Given the description of an element on the screen output the (x, y) to click on. 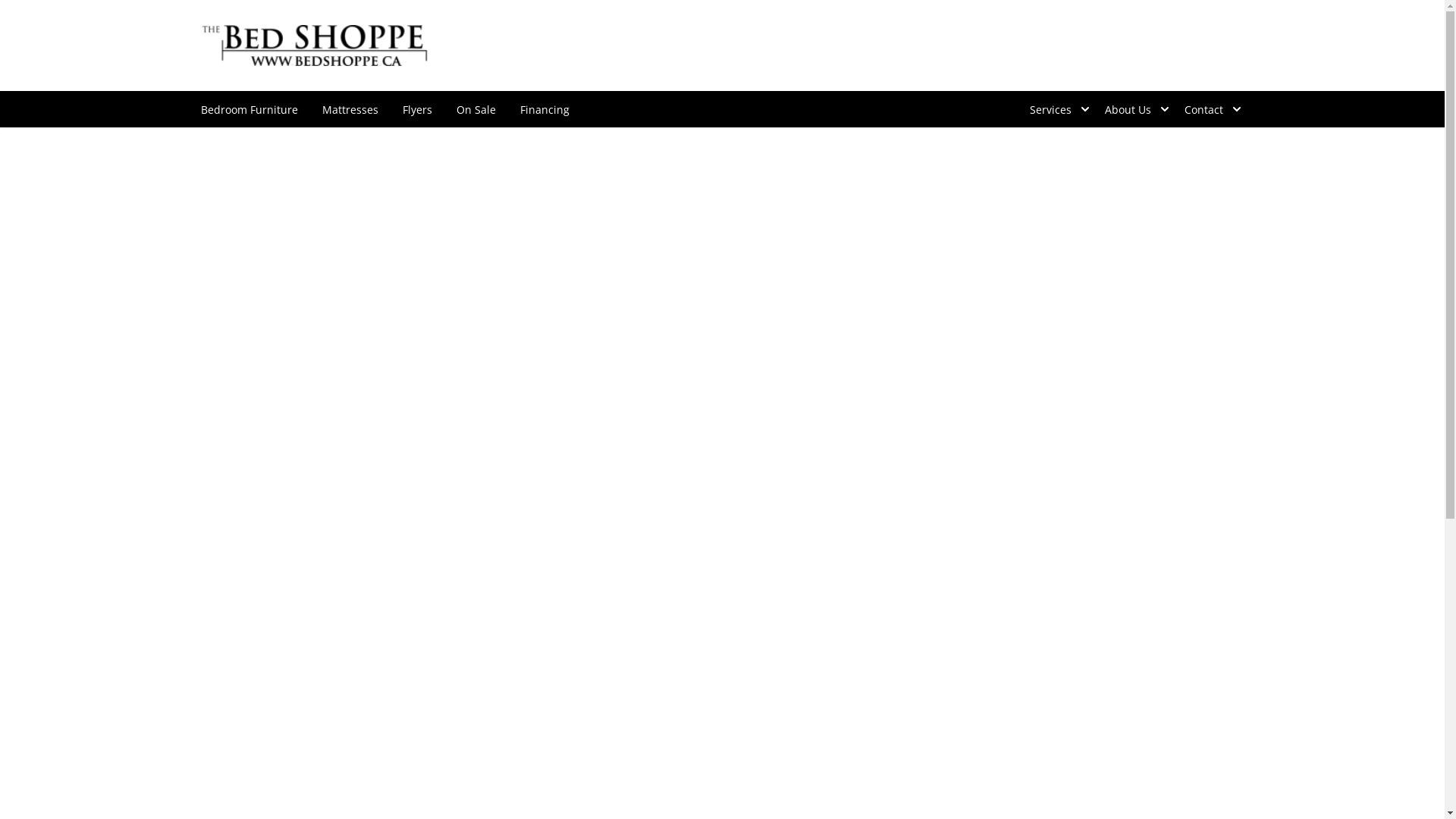
Financing Element type: text (544, 109)
Flyers Element type: text (416, 109)
Services Element type: text (1054, 109)
Mattresses Element type: text (349, 109)
About Us Element type: text (1131, 109)
Contact Element type: text (1208, 109)
Bedroom Furniture Element type: text (248, 109)
On Sale Element type: text (476, 109)
